Given the description of an element on the screen output the (x, y) to click on. 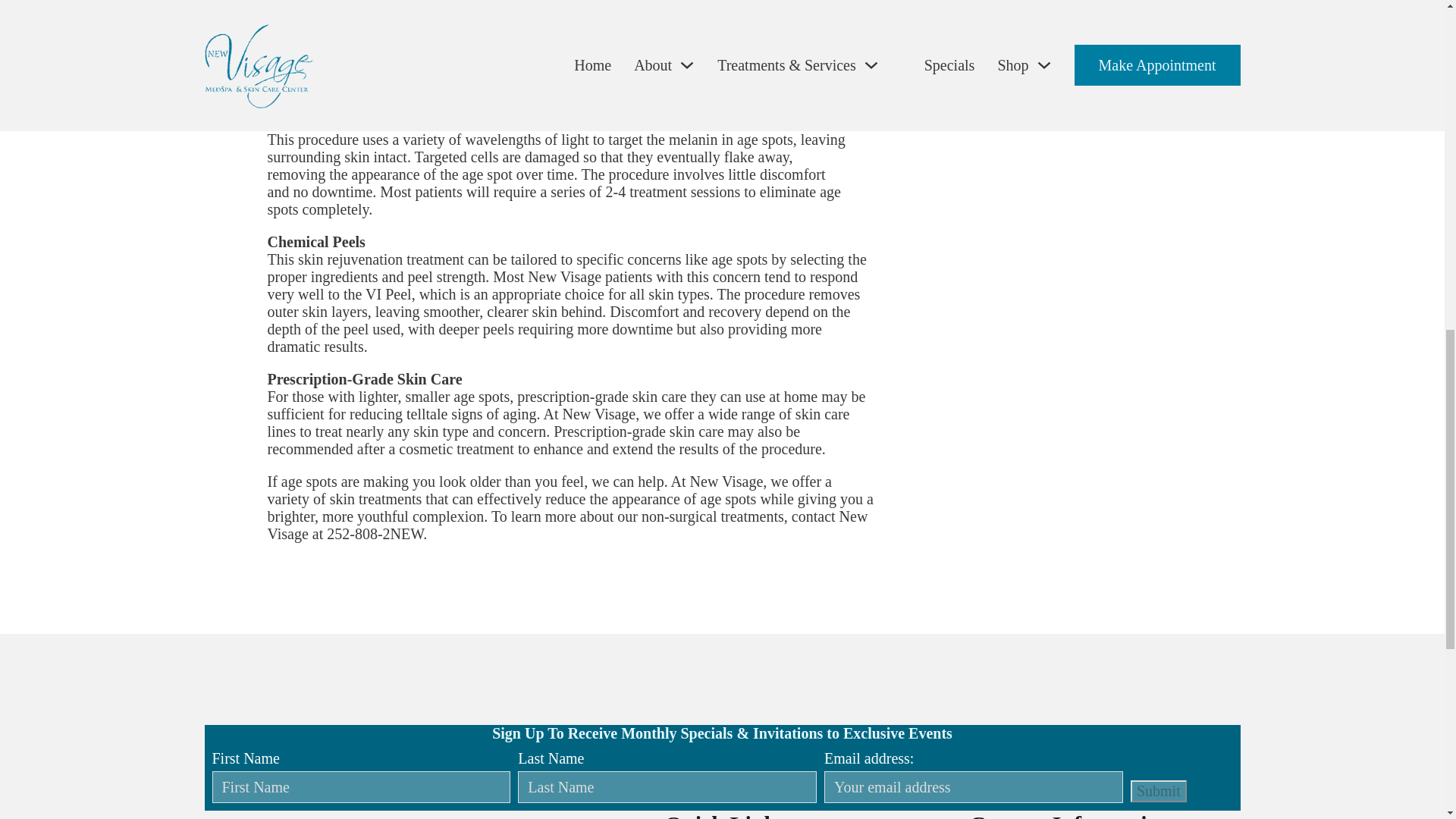
Submit (1158, 791)
